Given the description of an element on the screen output the (x, y) to click on. 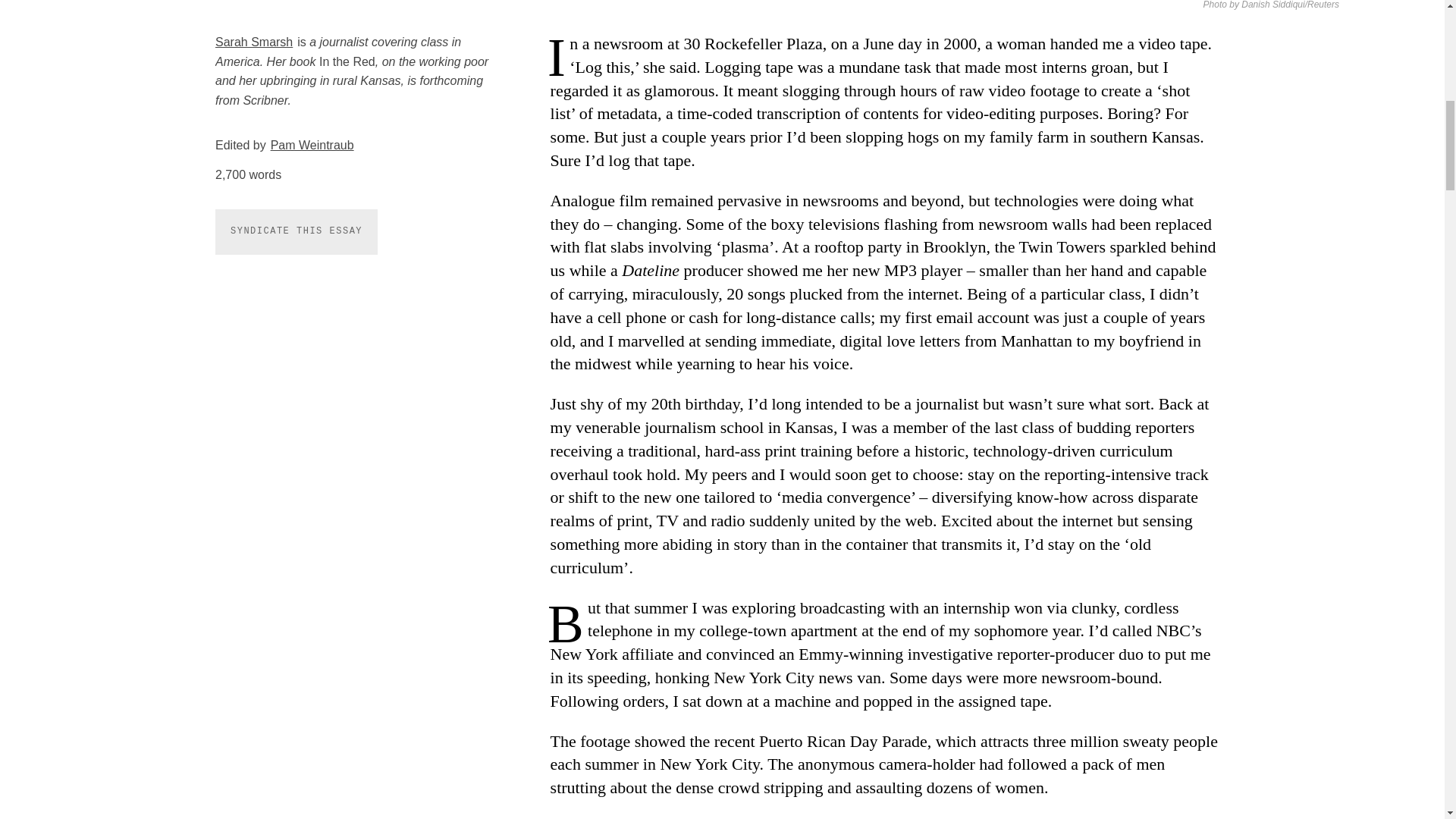
Pam Weintraub (311, 144)
SYNDICATE THIS ESSAY (296, 231)
Sarah Smarsh (253, 42)
